Given the description of an element on the screen output the (x, y) to click on. 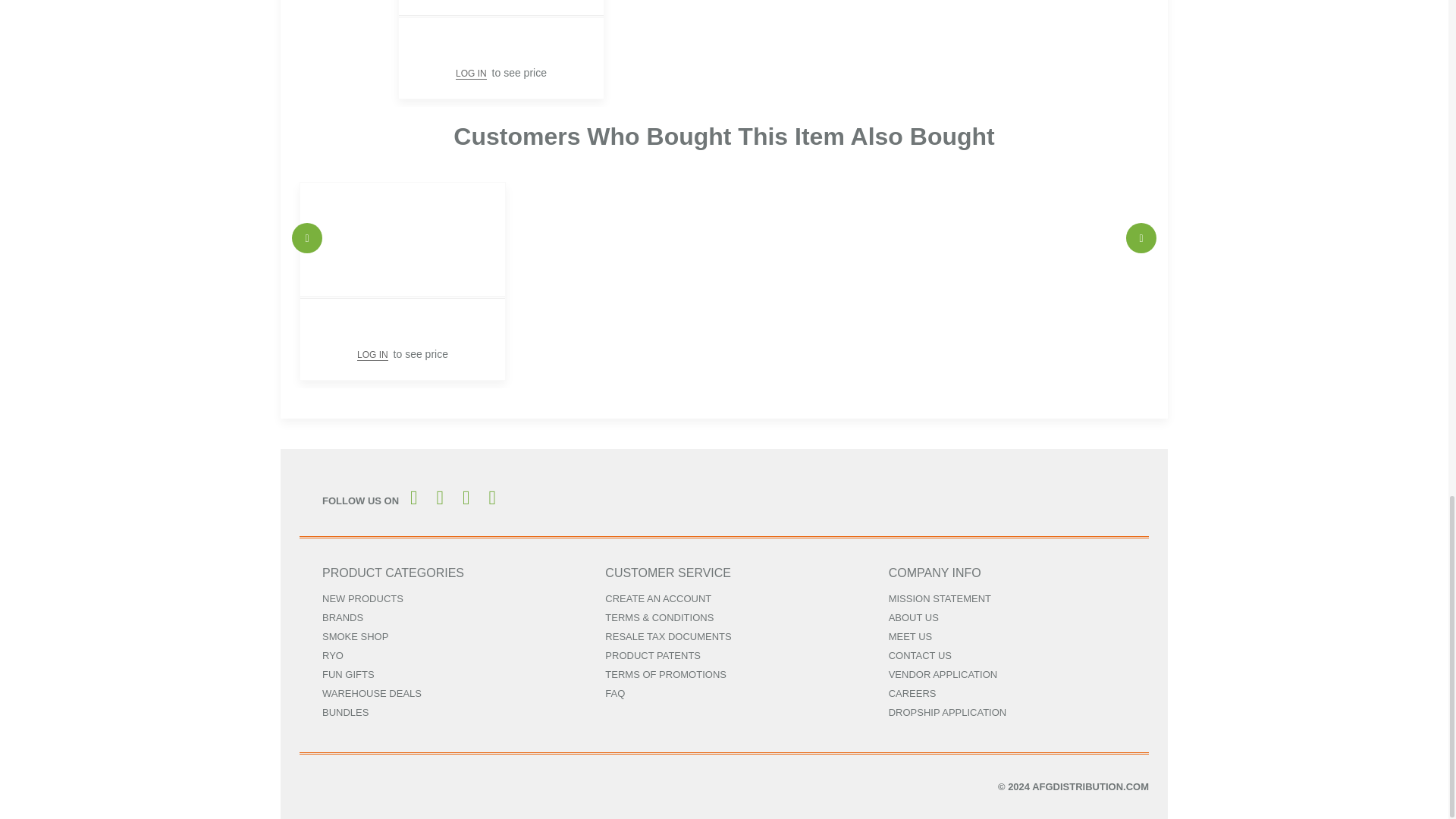
LOG IN (372, 355)
LOG IN (470, 73)
